Given the description of an element on the screen output the (x, y) to click on. 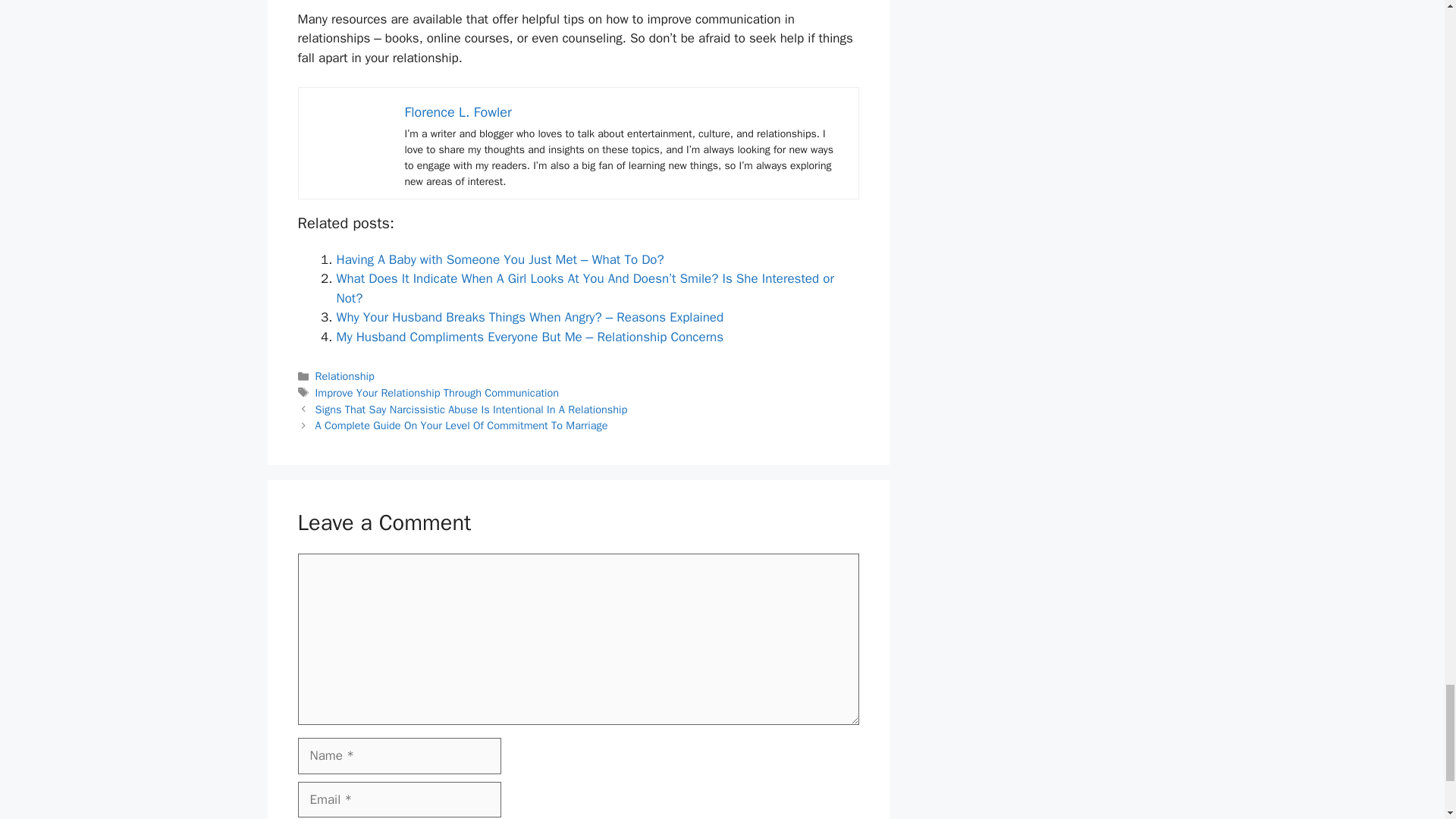
Florence L. Fowler (458, 112)
Relationship (344, 376)
A Complete Guide On Your Level Of Commitment To Marriage (461, 425)
Improve Your Relationship Through Communication (437, 392)
